Given the description of an element on the screen output the (x, y) to click on. 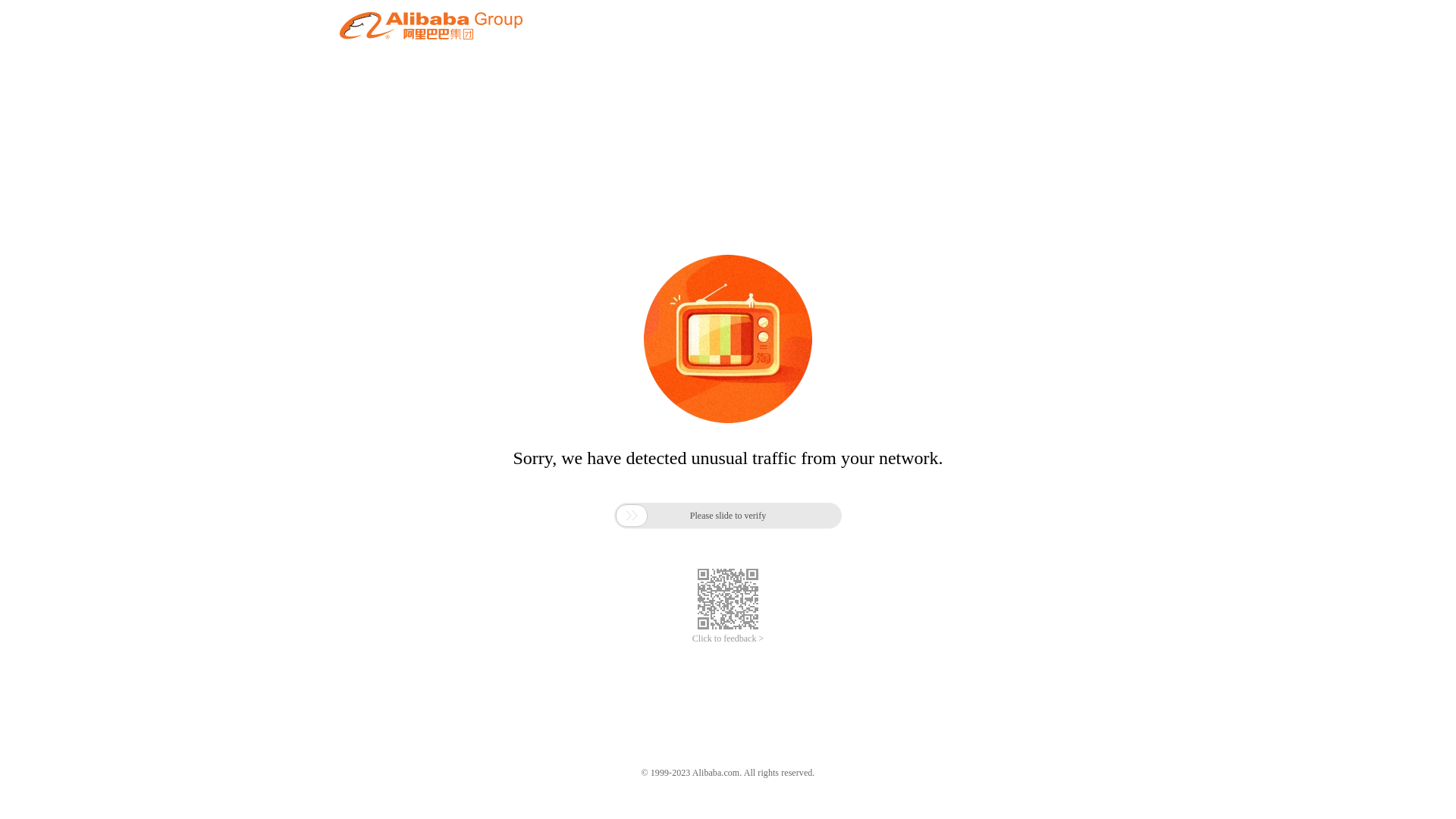
Click to feedback > Element type: text (727, 638)
